Given the description of an element on the screen output the (x, y) to click on. 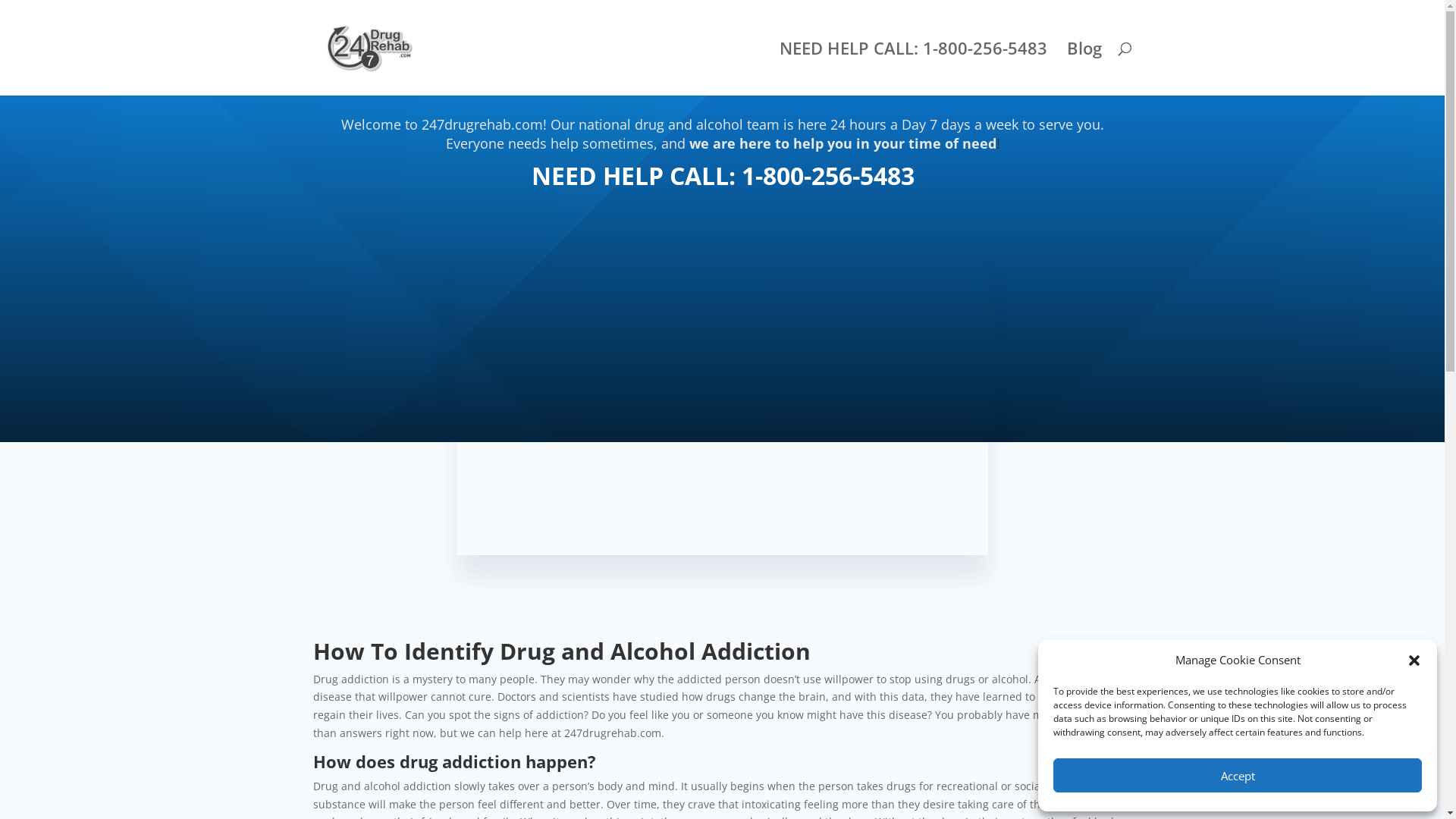
Blog Element type: text (1083, 68)
NEED HELP CALL: 1-800-256-5483 Element type: text (913, 68)
Accept Element type: text (1237, 775)
